Given the description of an element on the screen output the (x, y) to click on. 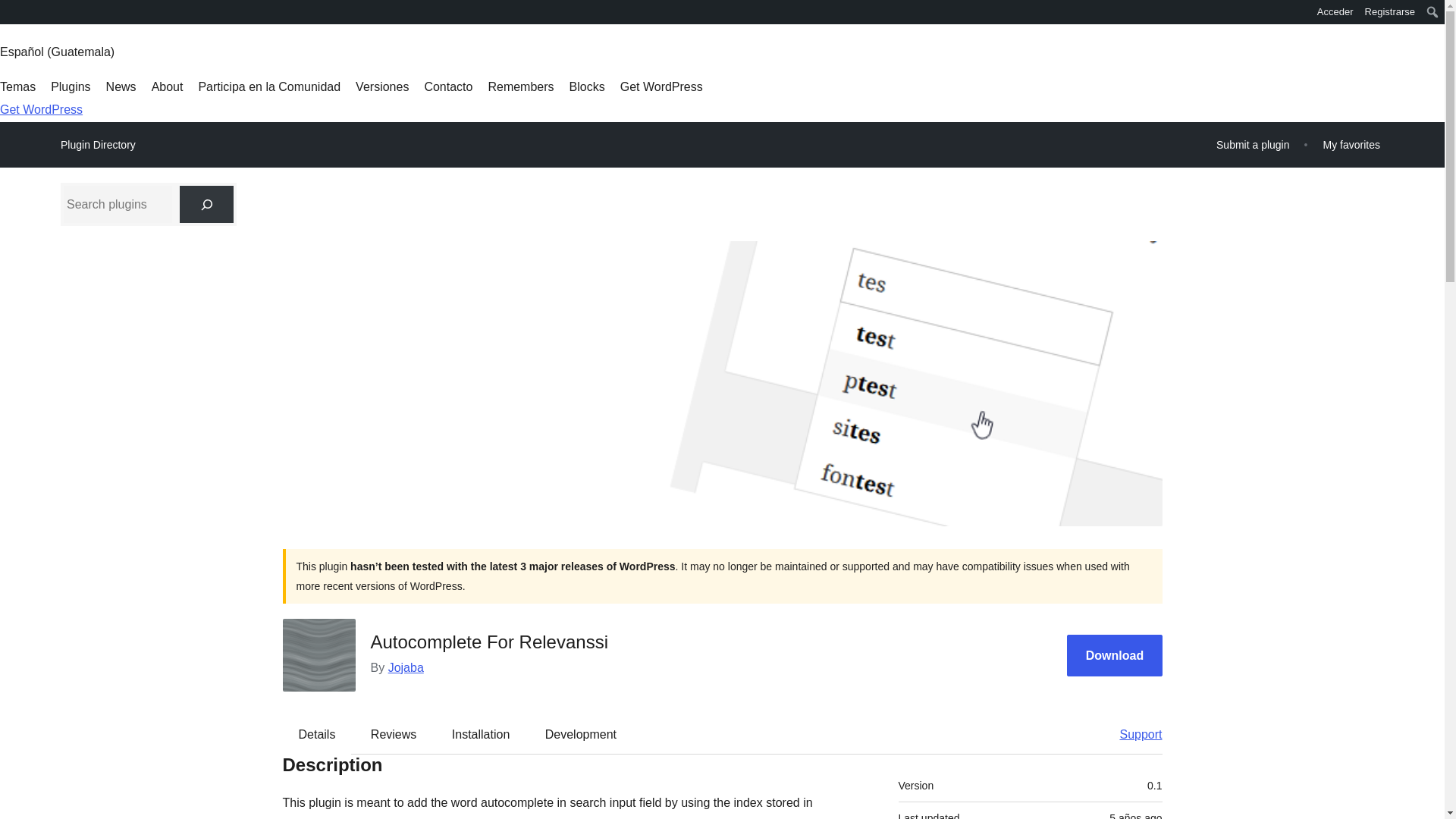
Registrarse (1390, 12)
Reviews (392, 733)
Installation (480, 733)
Temas (17, 87)
Contacto (447, 87)
Get WordPress (661, 87)
Versiones (382, 87)
News (121, 87)
About (167, 87)
Blocks (587, 87)
